Given the description of an element on the screen output the (x, y) to click on. 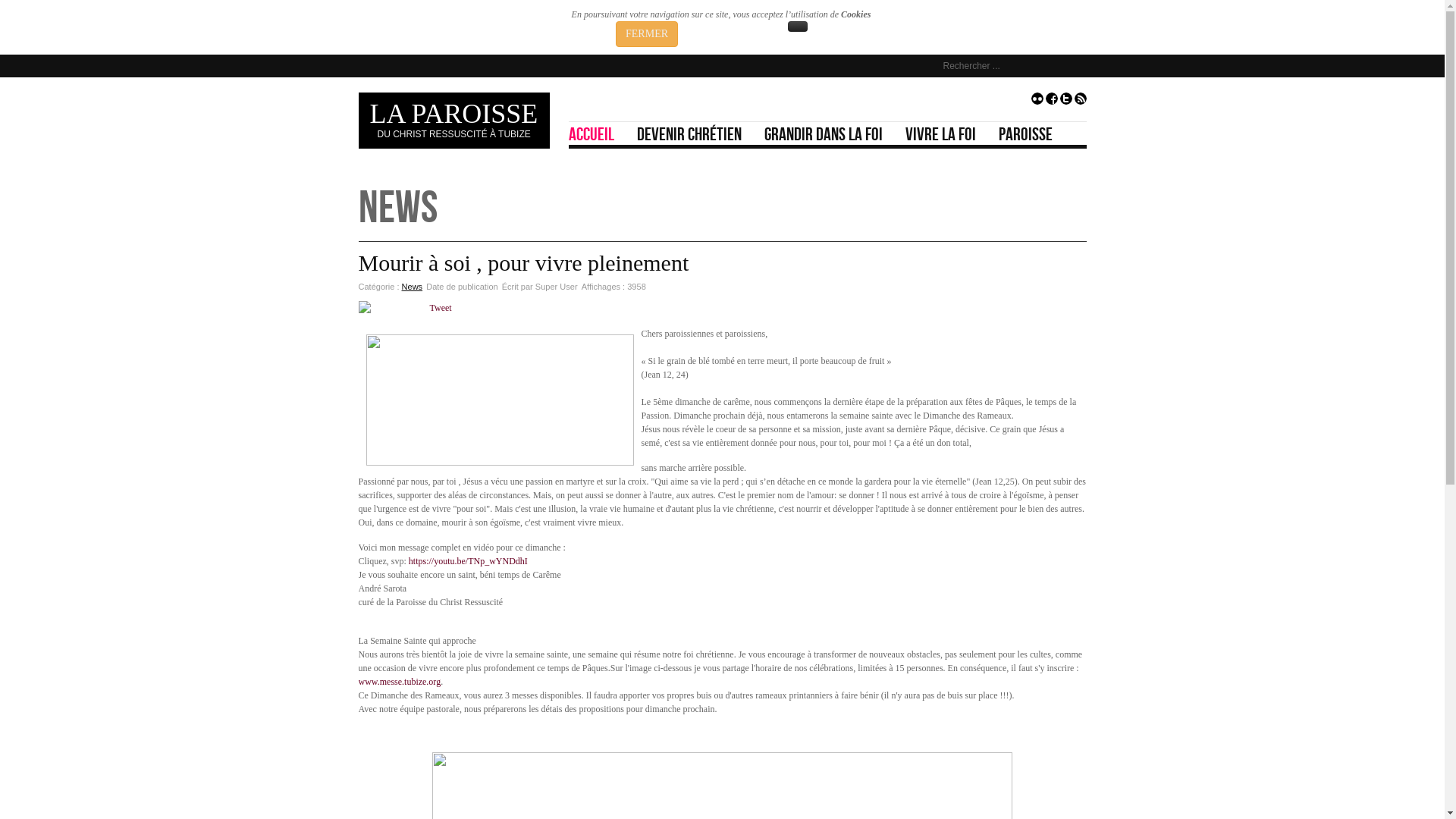
LA PAROISSE Element type: text (454, 113)
feed Element type: hover (1079, 101)
flickr Element type: hover (1037, 101)
Valider Element type: text (1072, 65)
E-mail Element type: text (1078, 286)
Imprimer Element type: text (1060, 286)
https://youtu.be/TNp_wYNDdhI Element type: text (467, 560)
GRANDIR DANS LA FOI Element type: text (829, 133)
ACCUEIL Element type: text (596, 133)
facebook Element type: hover (1050, 101)
twitter Element type: hover (1066, 101)
www.messe.tubize.org Element type: text (398, 681)
VIVRE LA FOI Element type: text (946, 133)
Tweet Element type: text (440, 307)
PAROISSE Element type: text (1030, 133)
FERMER Element type: text (646, 34)
News Element type: text (412, 286)
